Given the description of an element on the screen output the (x, y) to click on. 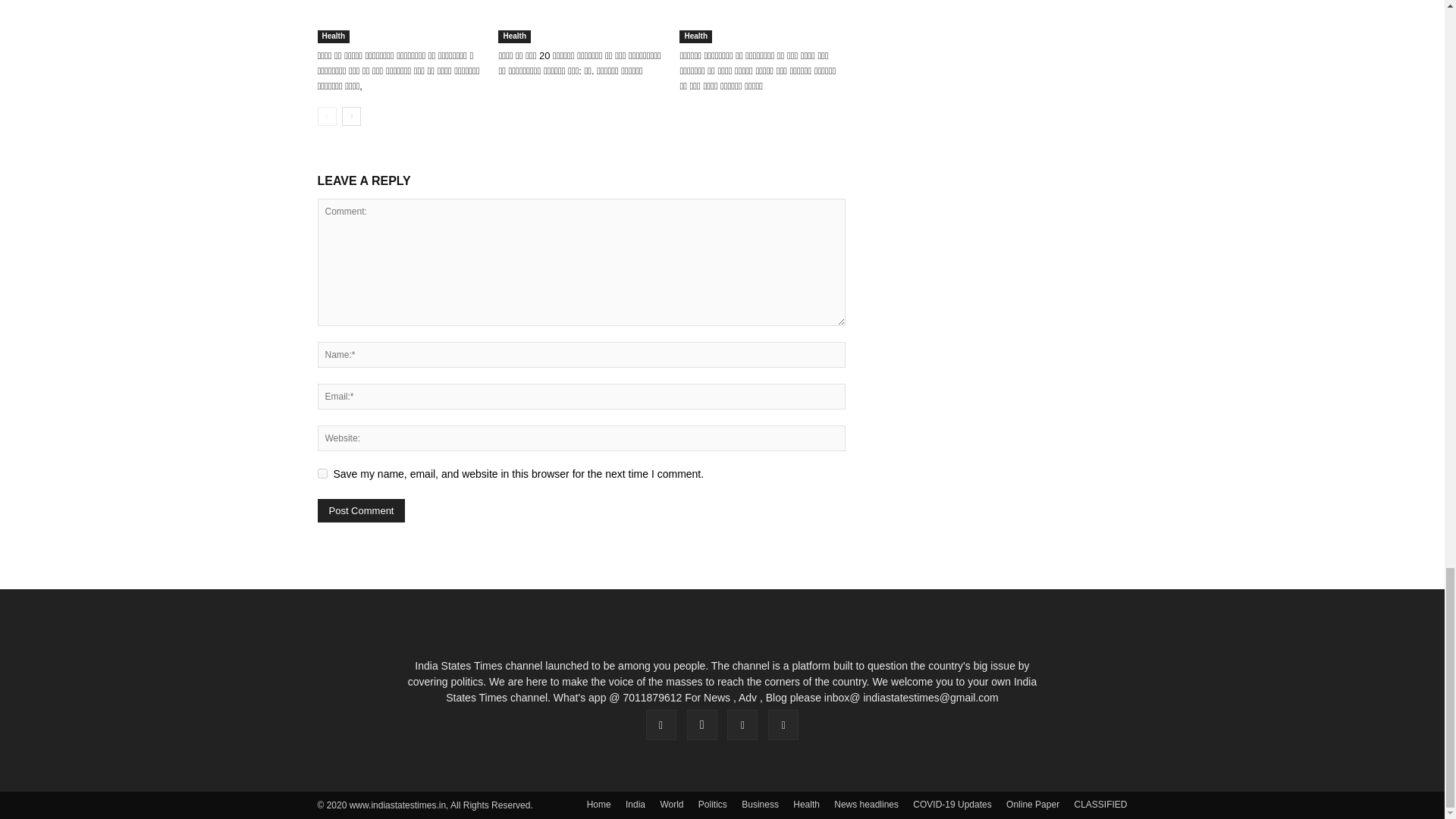
yes (321, 473)
Post Comment (360, 510)
